Given the description of an element on the screen output the (x, y) to click on. 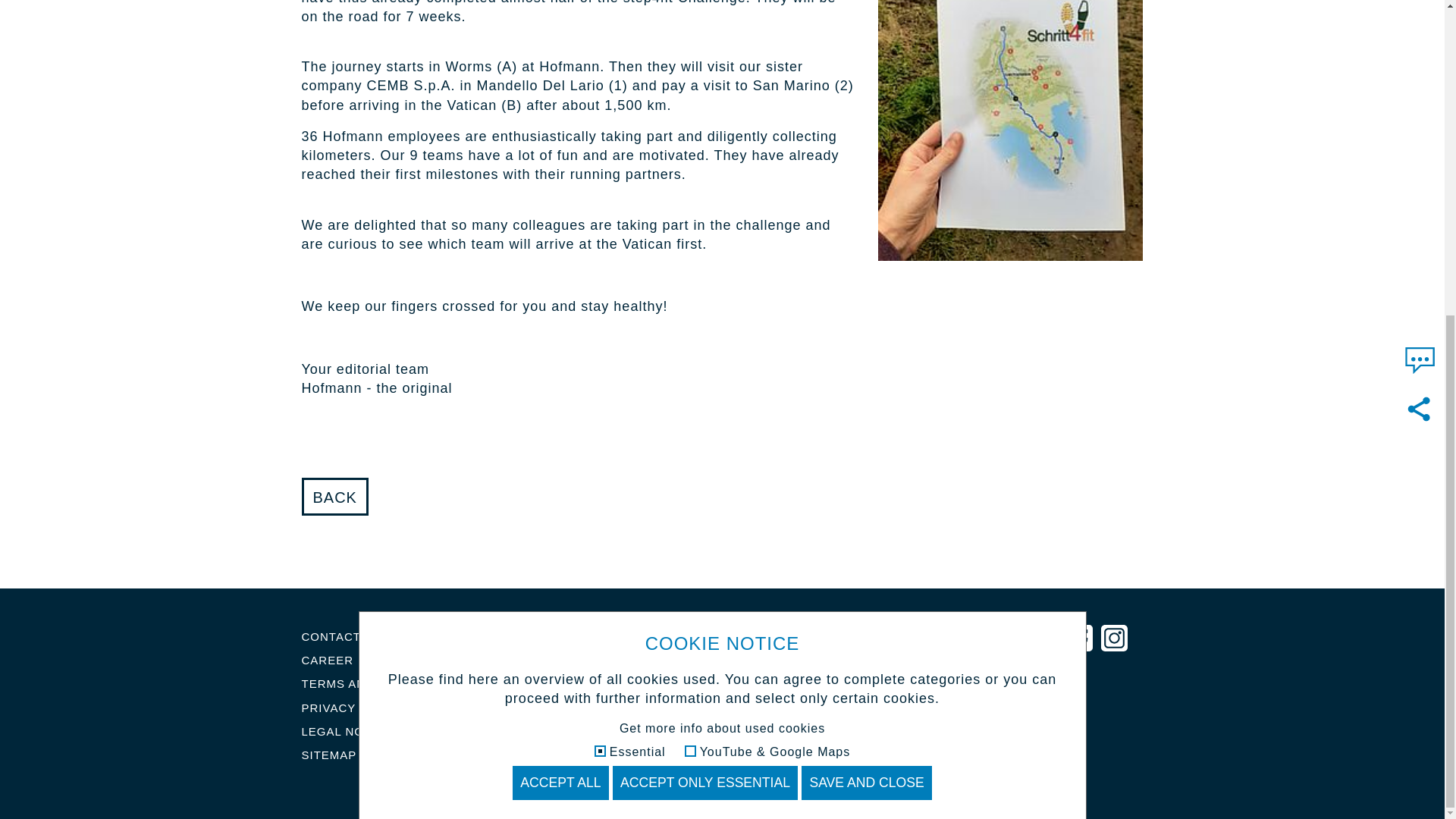
Terms and Conditions (379, 683)
Contact (331, 635)
Hofmann Maschinen- und Anlagenbau GmbH (705, 780)
Hofmann bei facebook (1080, 638)
Career (327, 659)
Legal Notes (344, 730)
Hofmann bei Instagram (1113, 638)
Hofmann bei xing (1045, 638)
Privacy Policy (353, 707)
Hofmann bei youtube (1005, 638)
Hofmann bei linkedIn (964, 638)
